Given the description of an element on the screen output the (x, y) to click on. 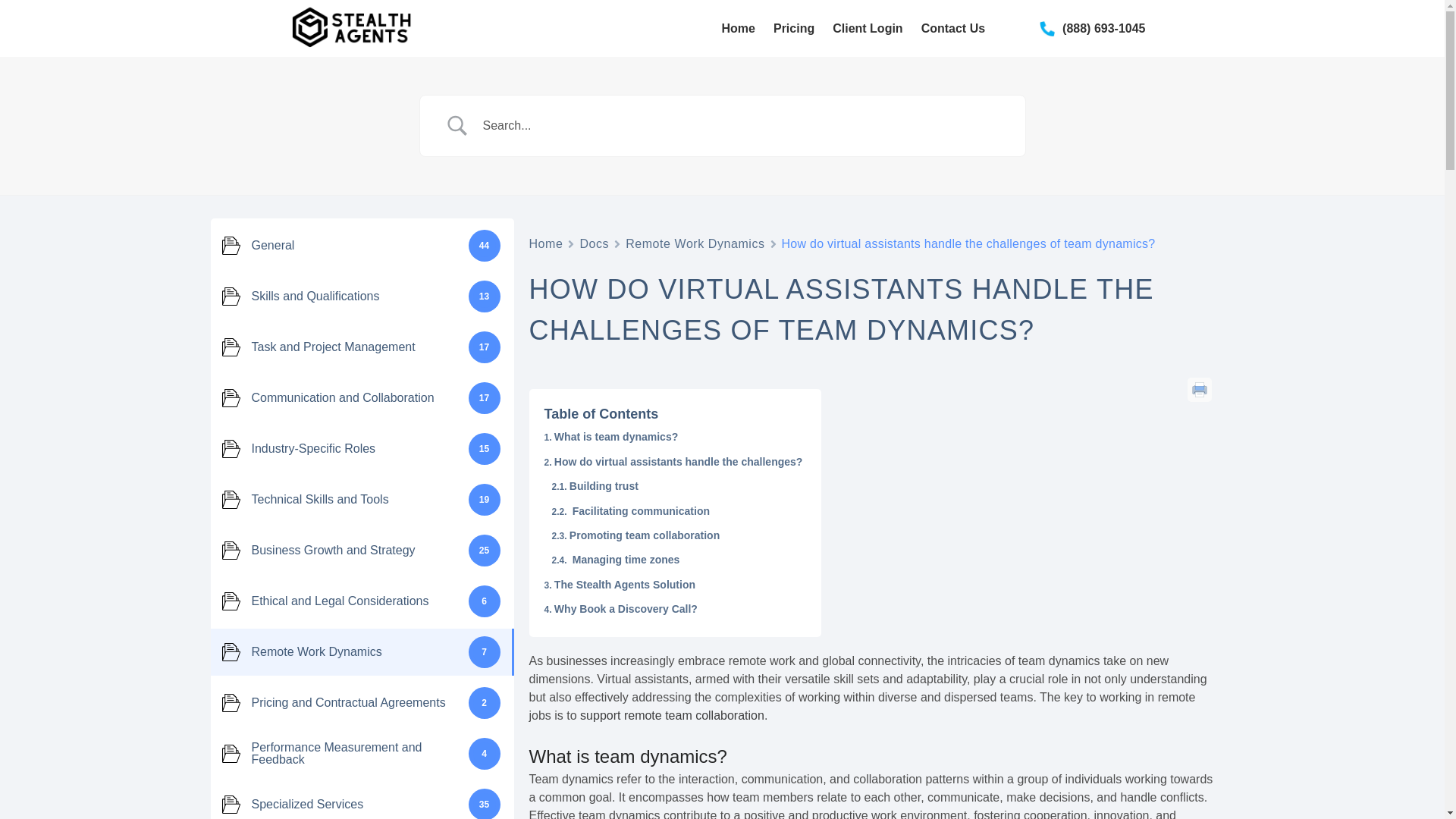
Home (546, 243)
Stealth Agents (466, 38)
Remote Work Dynamics (695, 243)
Contact Us (953, 28)
Home (738, 28)
Docs (593, 243)
Pricing (793, 28)
Client Login (867, 28)
